Given the description of an element on the screen output the (x, y) to click on. 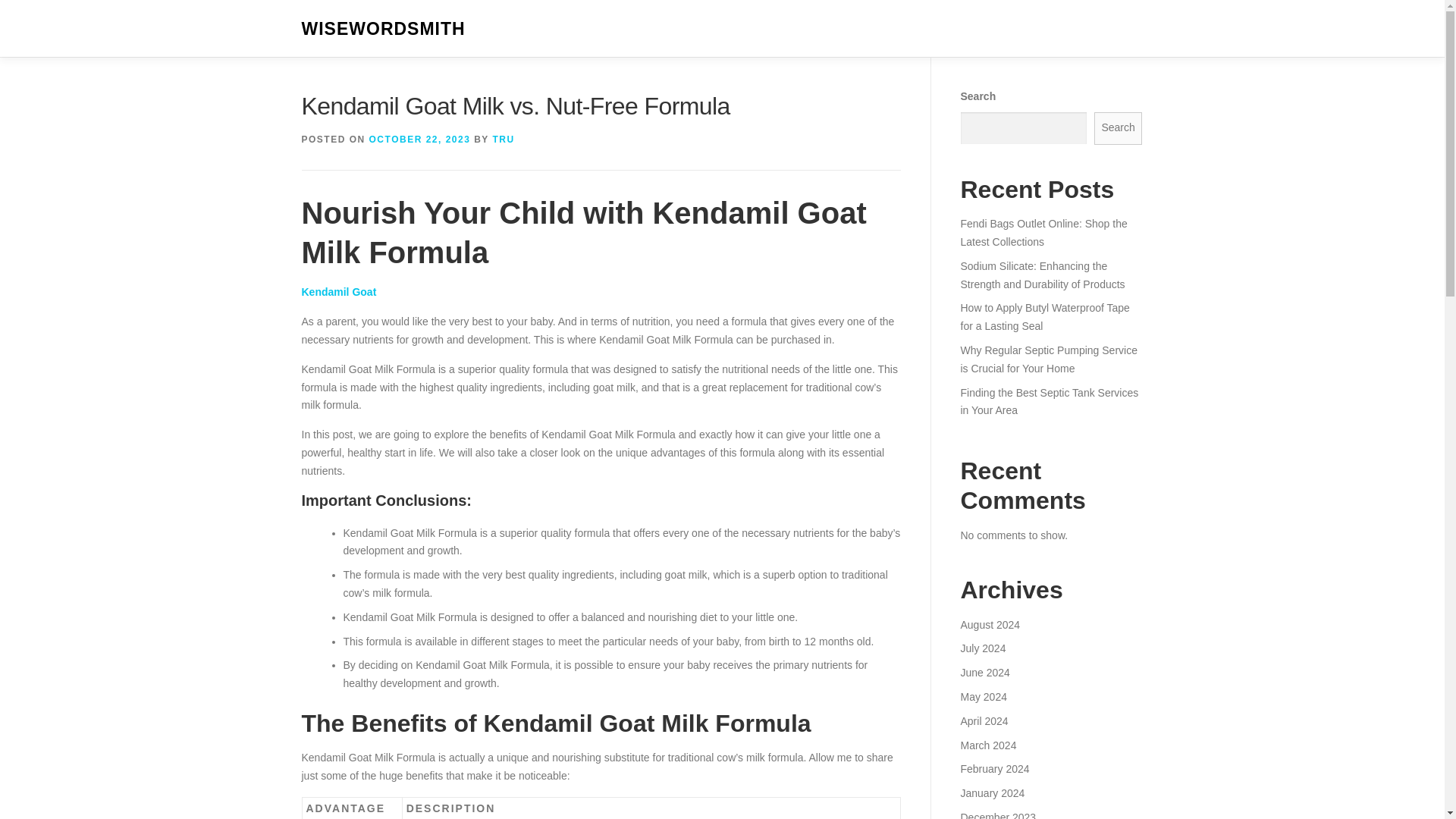
January 2024 (992, 793)
July 2024 (982, 648)
How to Apply Butyl Waterproof Tape for a Lasting Seal (1044, 317)
April 2024 (983, 720)
May 2024 (982, 696)
February 2024 (994, 768)
Fendi Bags Outlet Online: Shop the Latest Collections (1042, 232)
WISEWORDSMITH (383, 29)
TRU (502, 139)
OCTOBER 22, 2023 (419, 139)
